Given the description of an element on the screen output the (x, y) to click on. 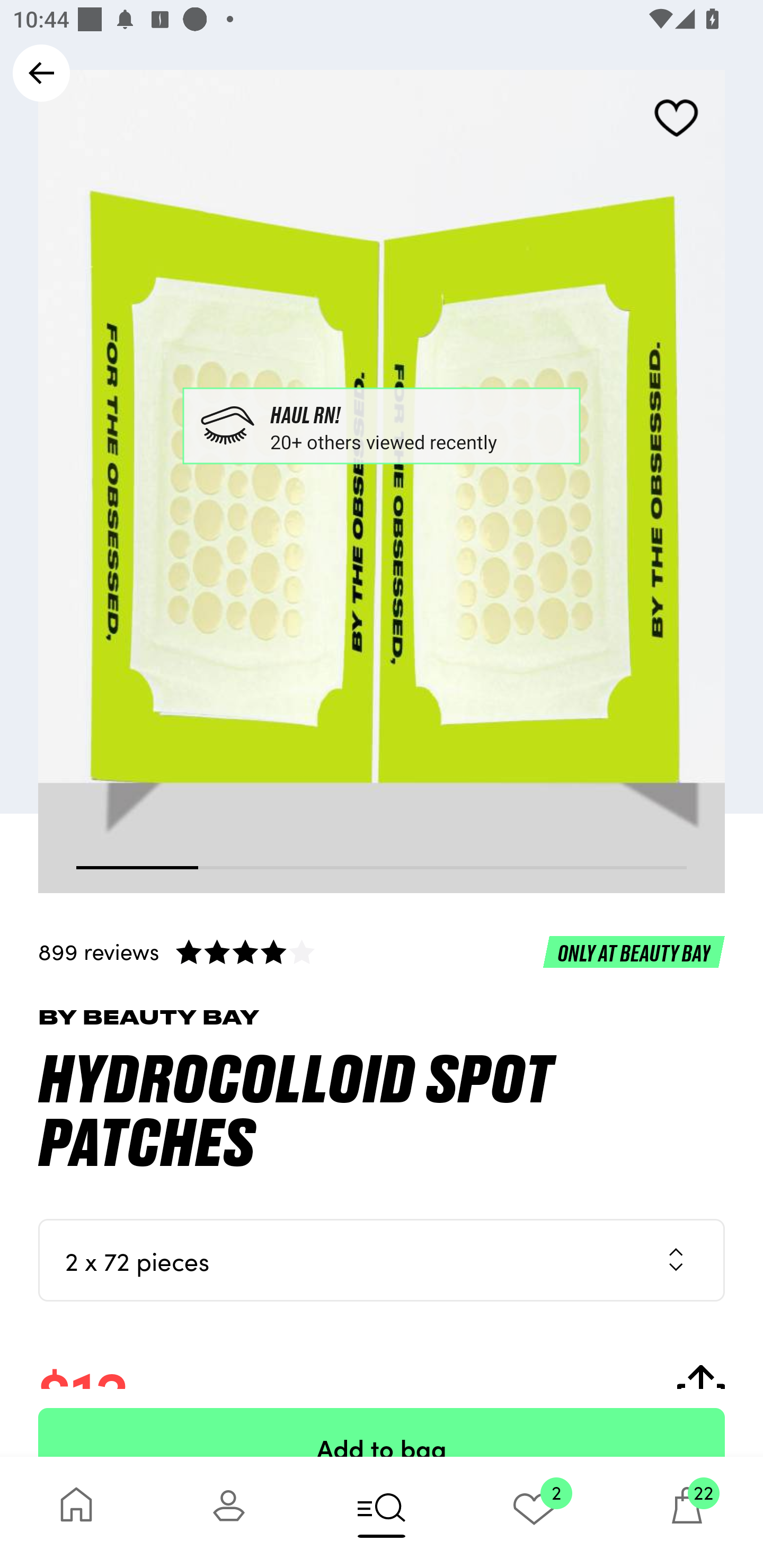
899 reviews (381, 950)
2 x 72 pieces  (381, 1259)
2 (533, 1512)
22 (686, 1512)
